Given the description of an element on the screen output the (x, y) to click on. 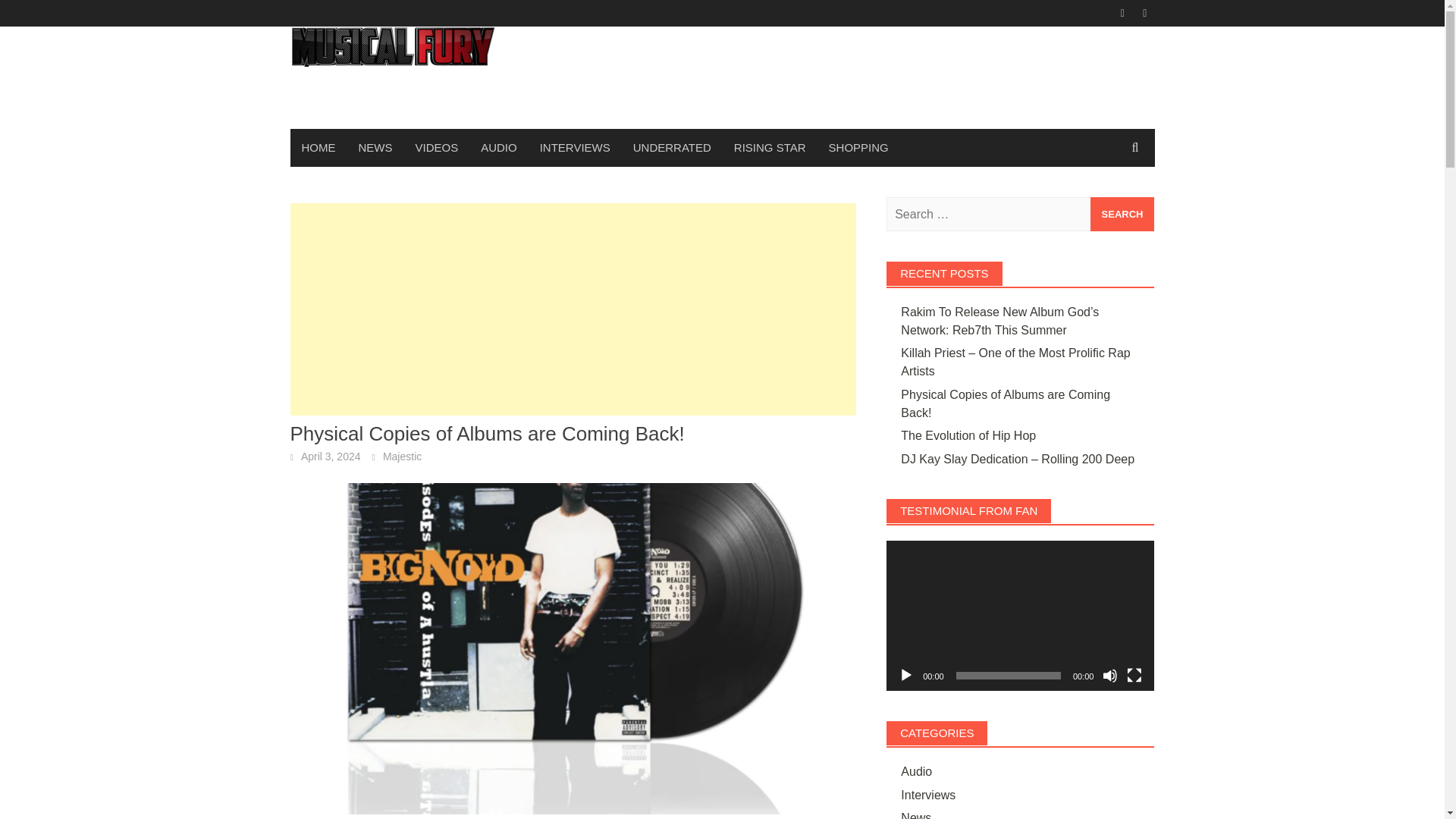
Fullscreen (1133, 675)
HOME (317, 147)
April 3, 2024 (331, 456)
INTERVIEWS (574, 147)
Majestic (402, 456)
NEWS (375, 147)
Search (1122, 213)
Advertisement (572, 309)
RISING STAR (769, 147)
Mute (1110, 675)
Search (1122, 213)
UNDERRATED (671, 147)
SHOPPING (857, 147)
Search (1122, 213)
AUDIO (498, 147)
